Given the description of an element on the screen output the (x, y) to click on. 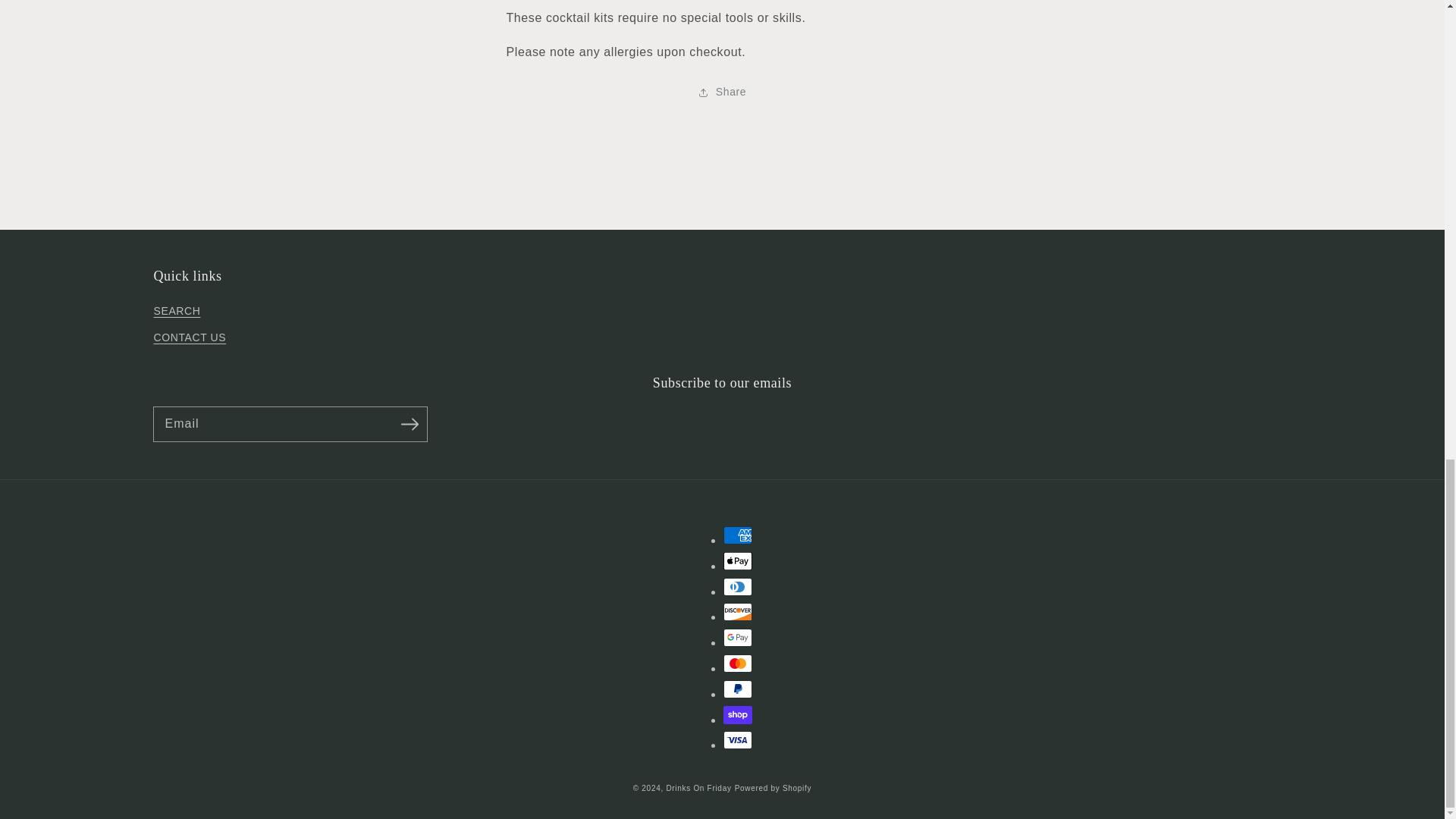
Shop Pay (737, 714)
Powered by Shopify (773, 787)
Discover (737, 611)
Google Pay (737, 637)
PayPal (737, 689)
CONTACT US (188, 337)
Drinks On Friday (697, 787)
SEARCH (176, 313)
Visa (737, 740)
Apple Pay (737, 561)
